Given the description of an element on the screen output the (x, y) to click on. 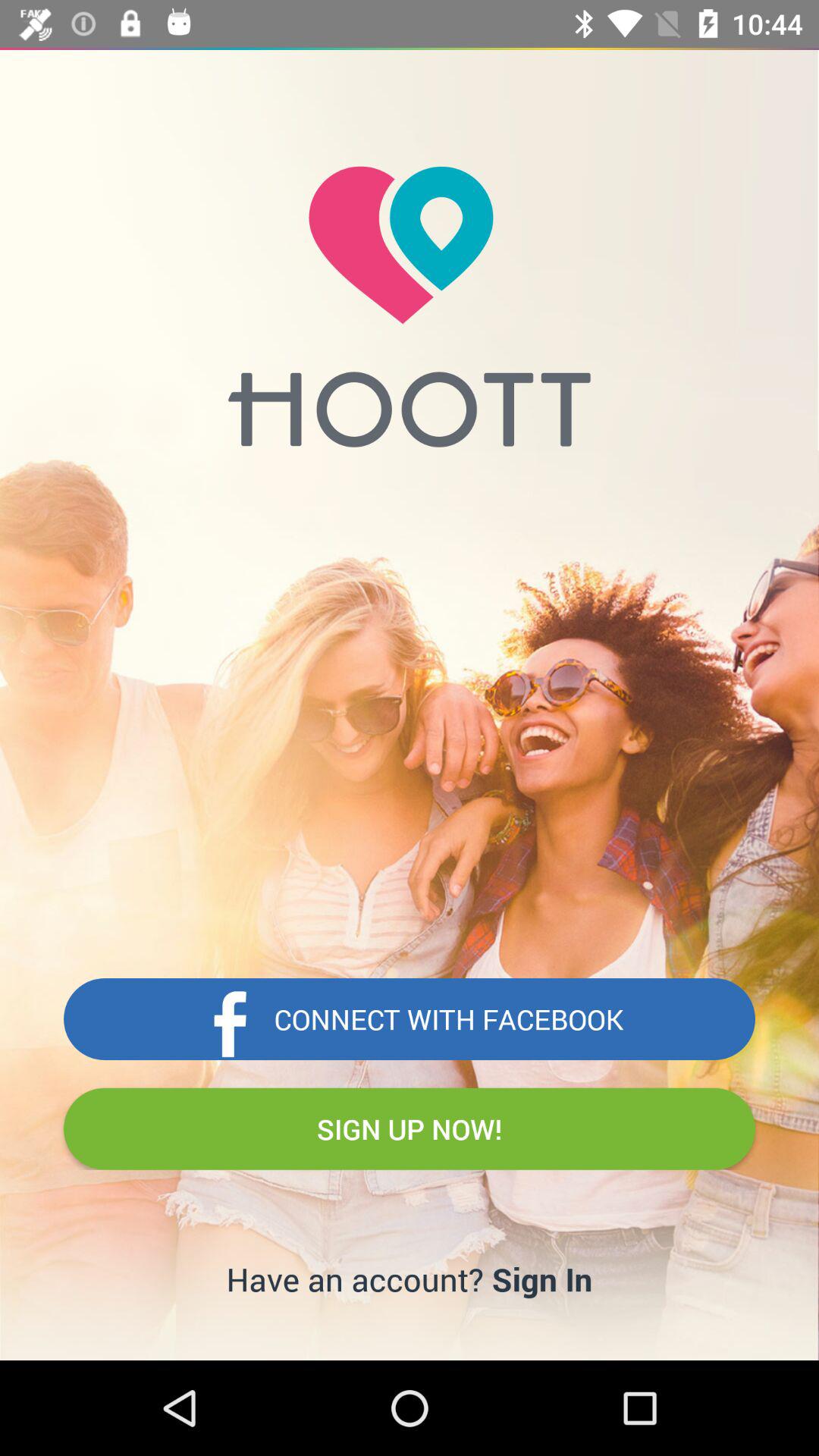
press icon below sign up now! item (541, 1278)
